Given the description of an element on the screen output the (x, y) to click on. 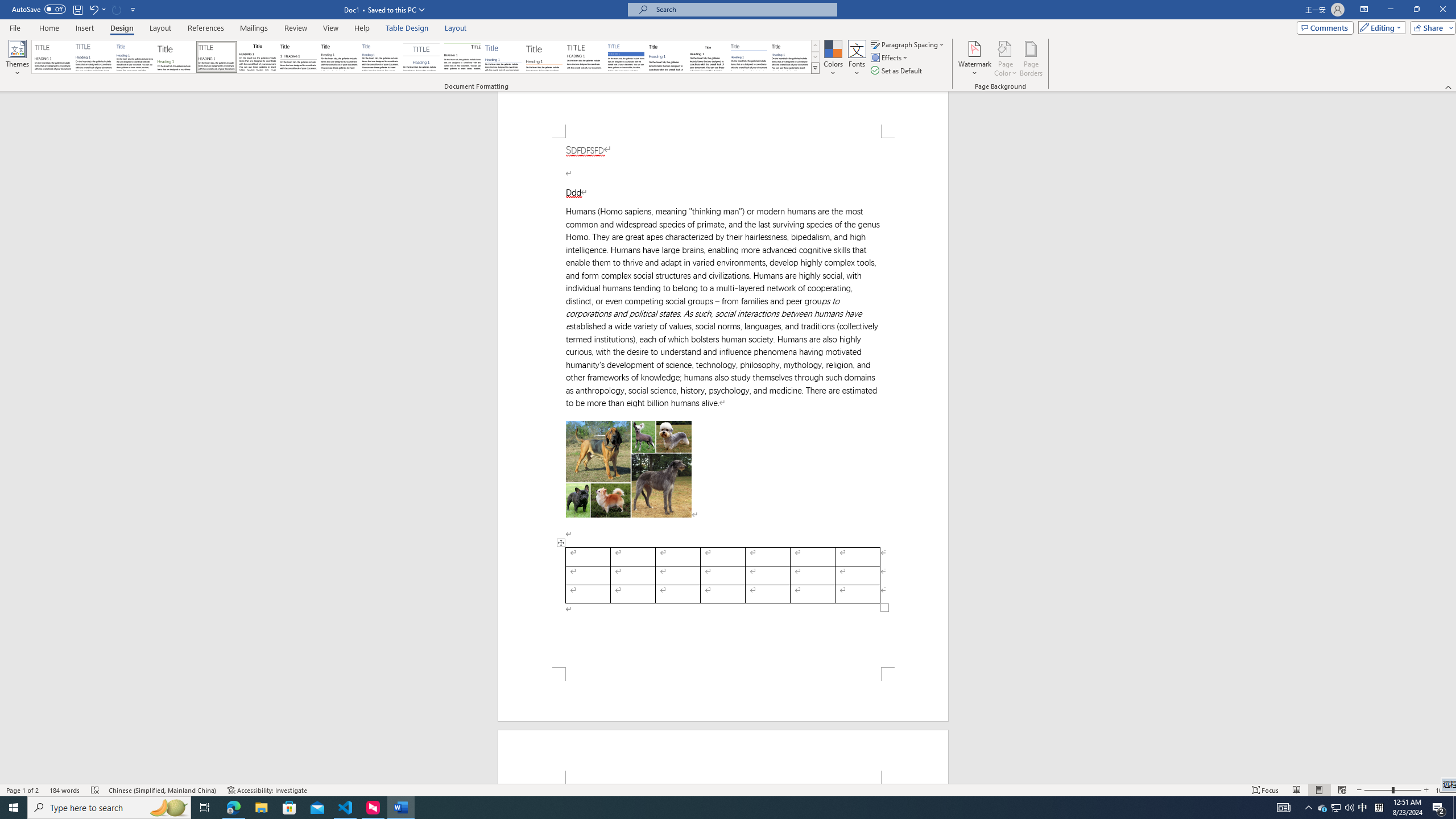
Editing (1379, 27)
System (6, 6)
Focus  (1265, 790)
Black & White (Capitalized) (216, 56)
Row up (814, 45)
Web Layout (1342, 790)
Zoom In (1426, 790)
Shaded (625, 56)
Design (122, 28)
Restore Down (1416, 9)
Save (77, 9)
Share (1430, 27)
Undo Apply Quick Style Set (96, 9)
Microsoft search (742, 9)
Set as Default (897, 69)
